Given the description of an element on the screen output the (x, y) to click on. 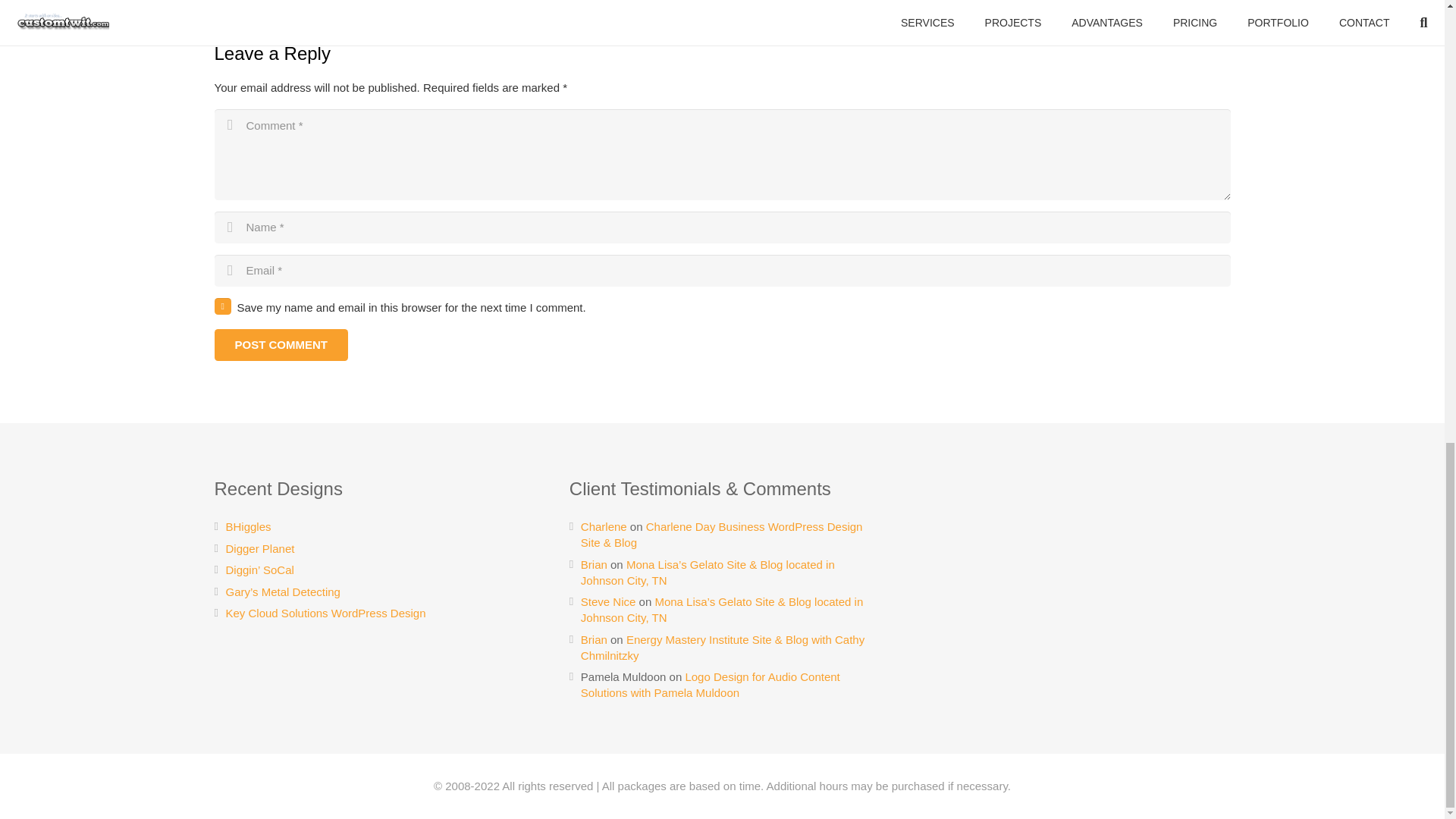
Digger Planet (260, 548)
BHiggles (247, 526)
Key Cloud Solutions WordPress Design (325, 612)
POST COMMENT (280, 345)
